Given the description of an element on the screen output the (x, y) to click on. 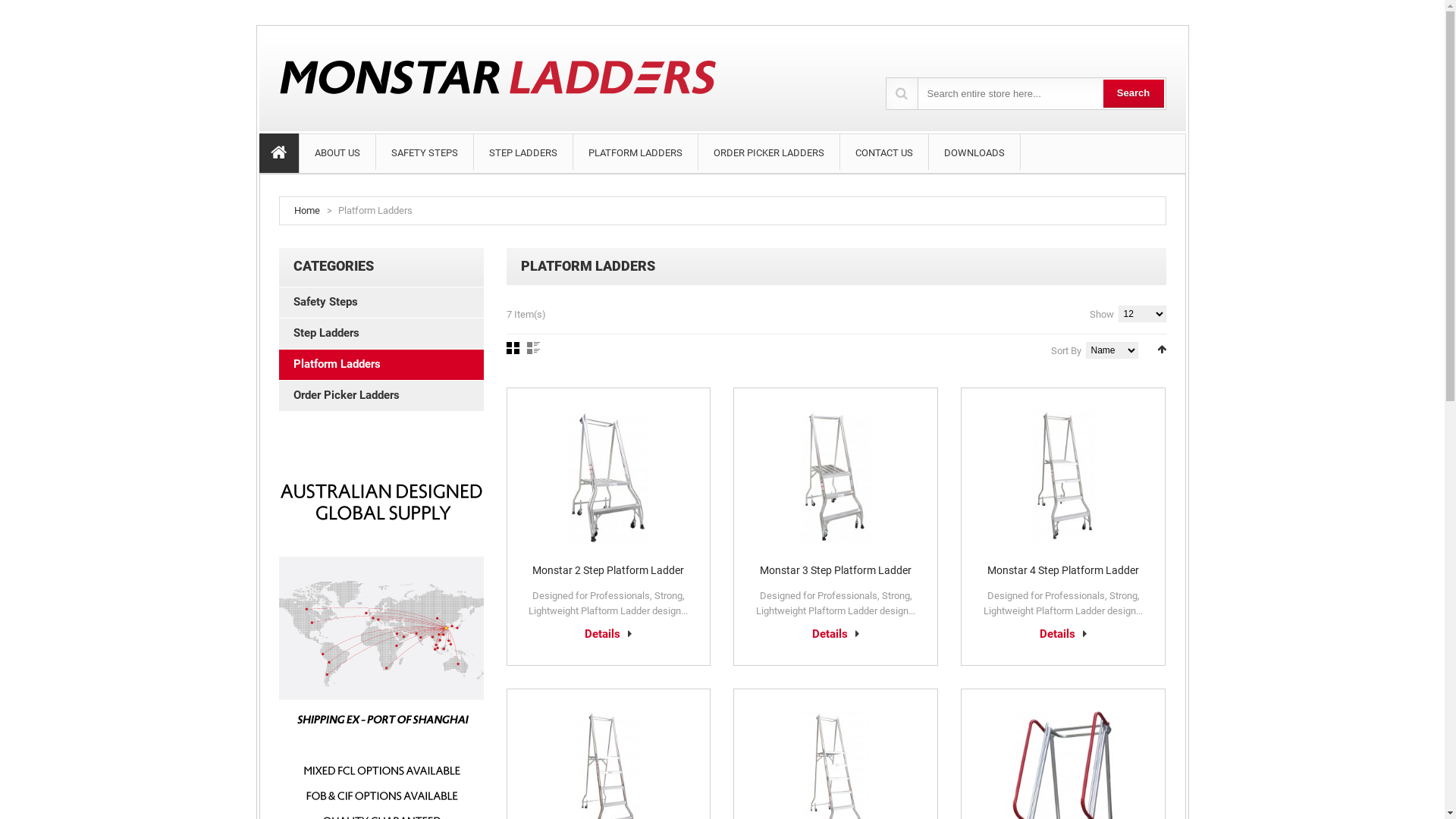
Set Descending Direction Element type: hover (1161, 349)
Search Element type: text (1132, 93)
Details Element type: text (607, 633)
Home Element type: text (307, 210)
Monstar 2 Step Platform Ladder Element type: text (608, 570)
PLATFORM LADDERS Element type: text (635, 151)
List Element type: text (532, 348)
STEP LADDERS Element type: text (522, 151)
Safety Steps Element type: text (381, 302)
Details Element type: text (1062, 633)
ORDER PICKER LADDERS Element type: text (767, 151)
Details Element type: text (835, 633)
CONTACT US Element type: text (884, 151)
ABOUT US Element type: text (336, 151)
Monstar 2 Step Platform Ladder Element type: hover (607, 476)
Monstar 3 Step Platform Ladder Element type: hover (835, 476)
Order Picker Ladders Element type: text (381, 395)
Monstar 4 Step Platform Ladder Element type: hover (1062, 476)
SAFETY STEPS Element type: text (424, 151)
Monstar Ladders Element type: hover (512, 73)
Step Ladders Element type: text (381, 333)
Monstar 4 Step Platform Ladder Element type: text (1063, 570)
DOWNLOADS Element type: text (973, 151)
Monstar 3 Step Platform Ladder Element type: text (835, 570)
Platform Ladders Element type: text (381, 364)
